Given the description of an element on the screen output the (x, y) to click on. 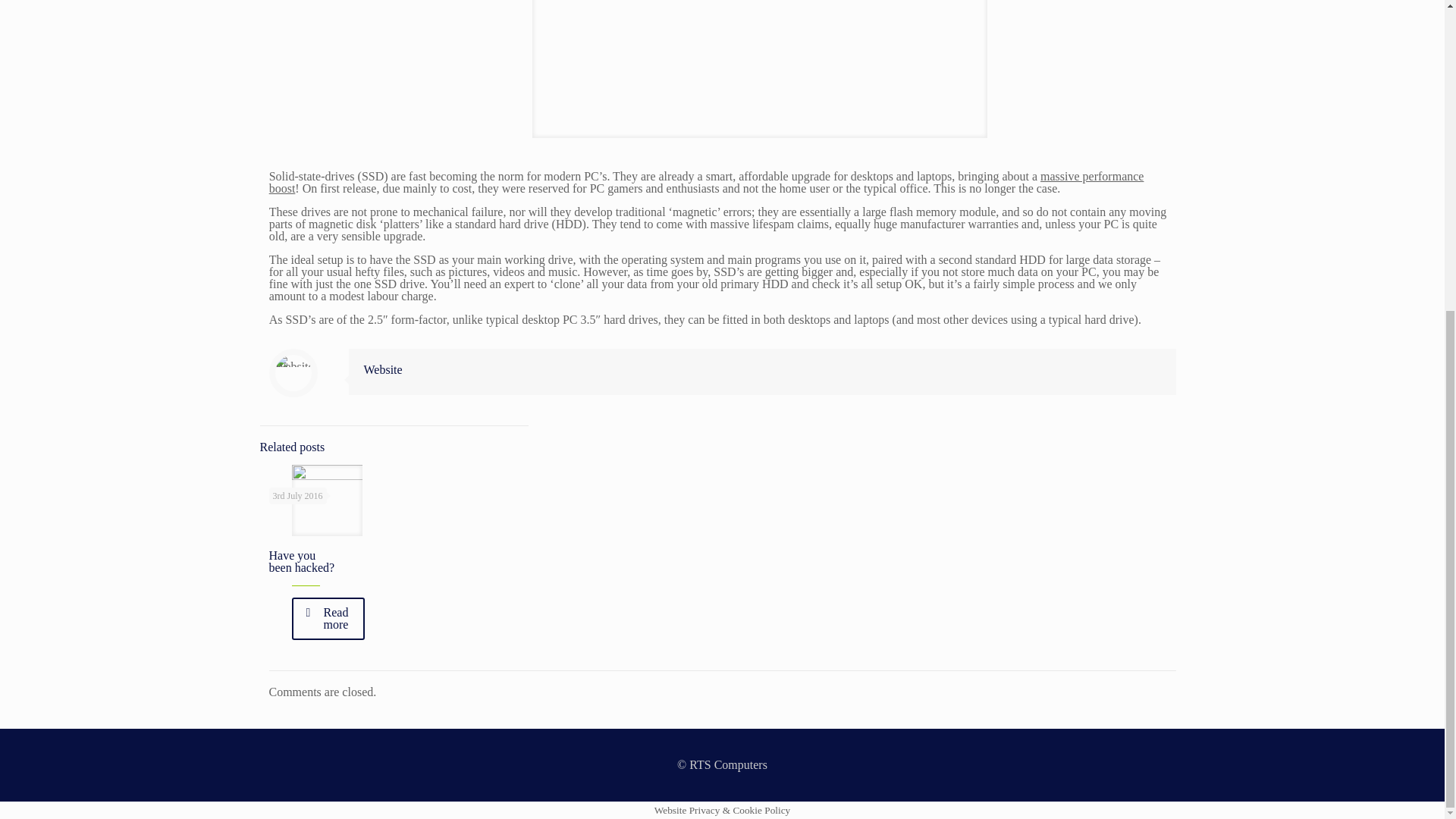
Website (383, 369)
Have you been hacked? (300, 561)
Read more (328, 618)
